Given the description of an element on the screen output the (x, y) to click on. 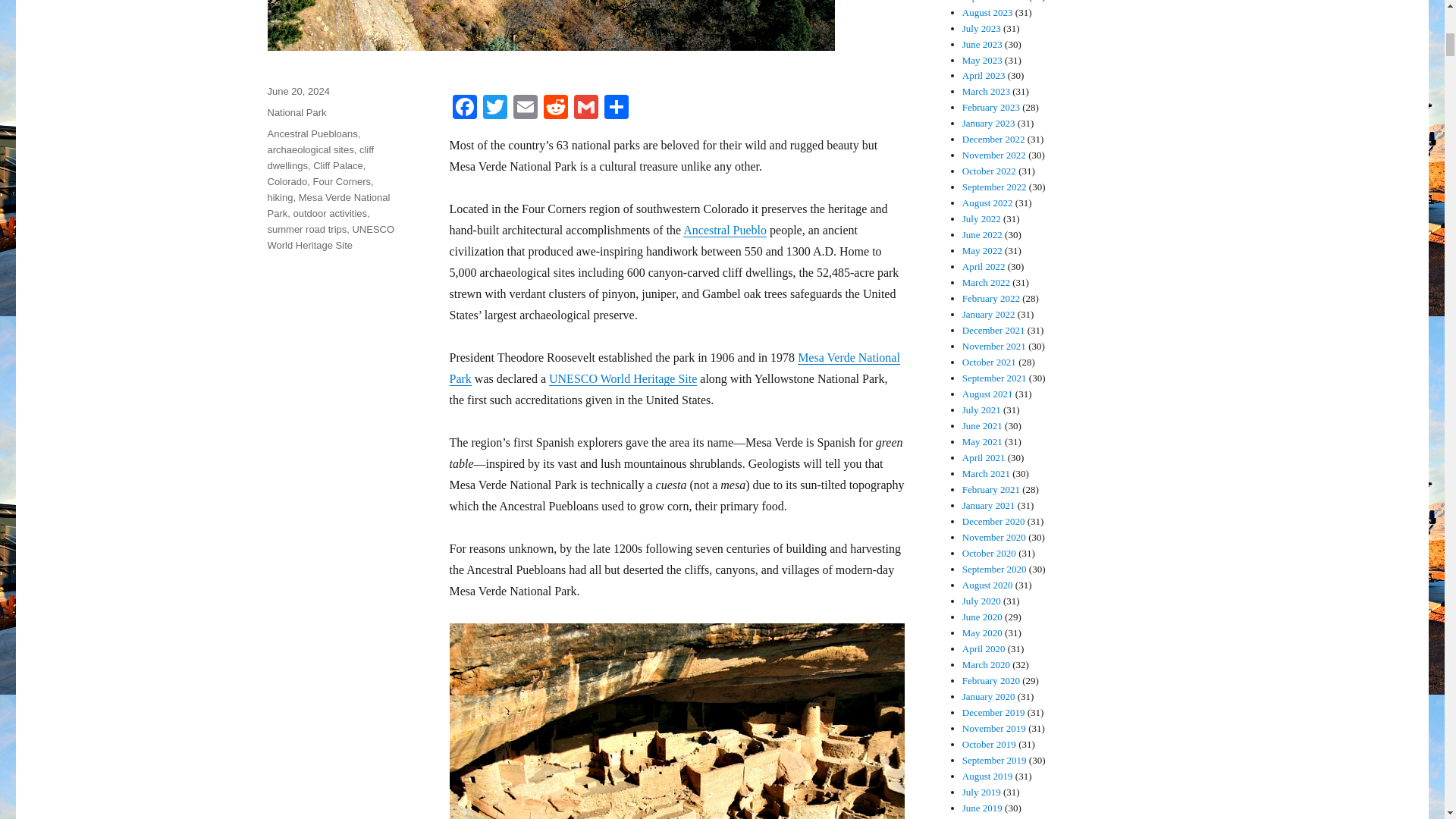
outdoor activities (329, 213)
Email (524, 108)
Twitter (494, 108)
National Park (296, 112)
summer road trips (306, 229)
Ancestral Puebloans (311, 133)
June 20, 2024 (297, 91)
Gmail (584, 108)
Mesa Verde National Park (673, 367)
archaeological sites (309, 149)
Mesa Verde National Park (328, 205)
cliff dwellings (320, 157)
Reddit (555, 108)
Cliff Palace (337, 165)
Four Corners (342, 181)
